Given the description of an element on the screen output the (x, y) to click on. 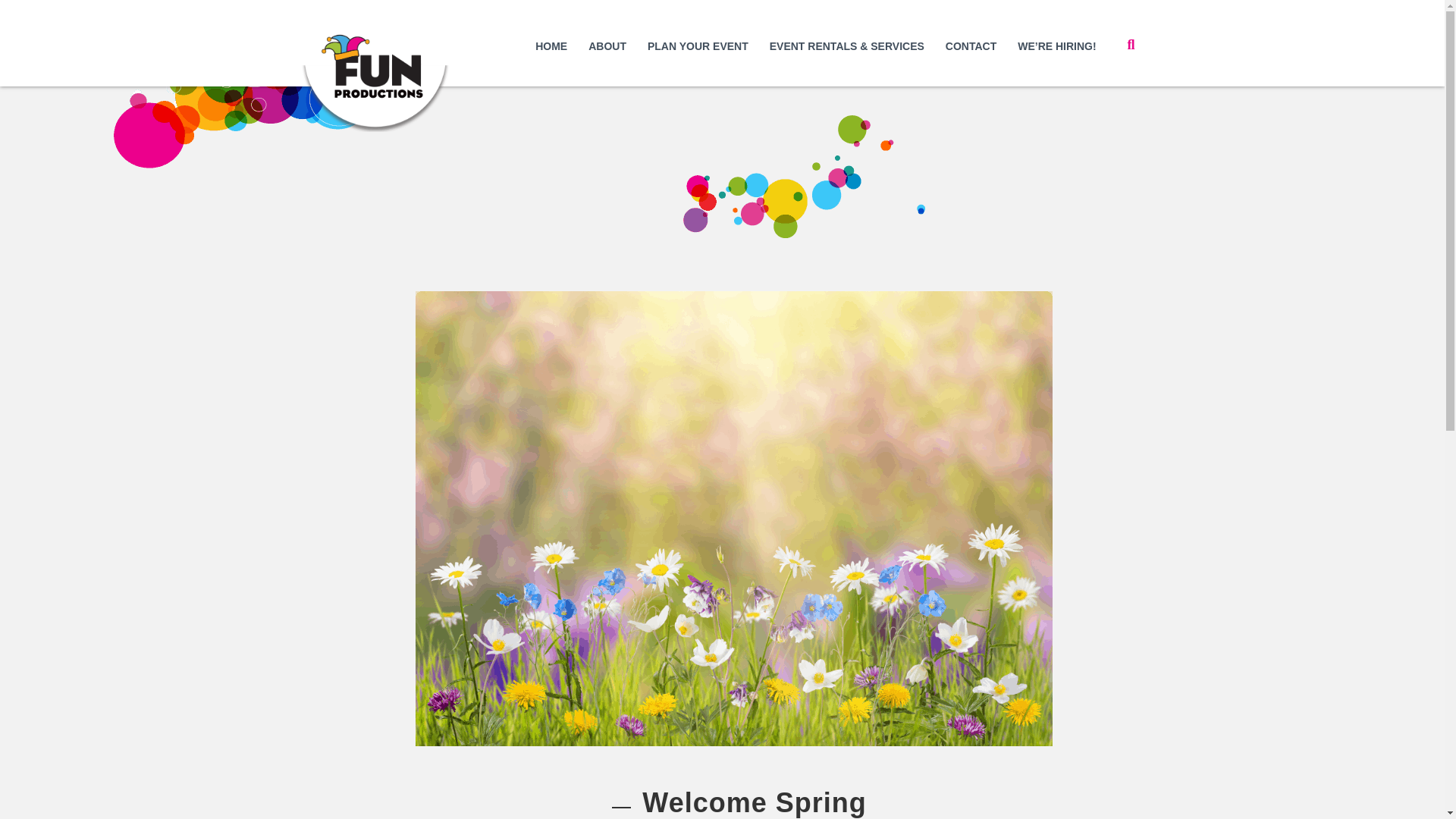
PLAN YOUR EVENT (697, 46)
ABOUT (607, 46)
HOME (551, 46)
CONTACT (970, 46)
